Given the description of an element on the screen output the (x, y) to click on. 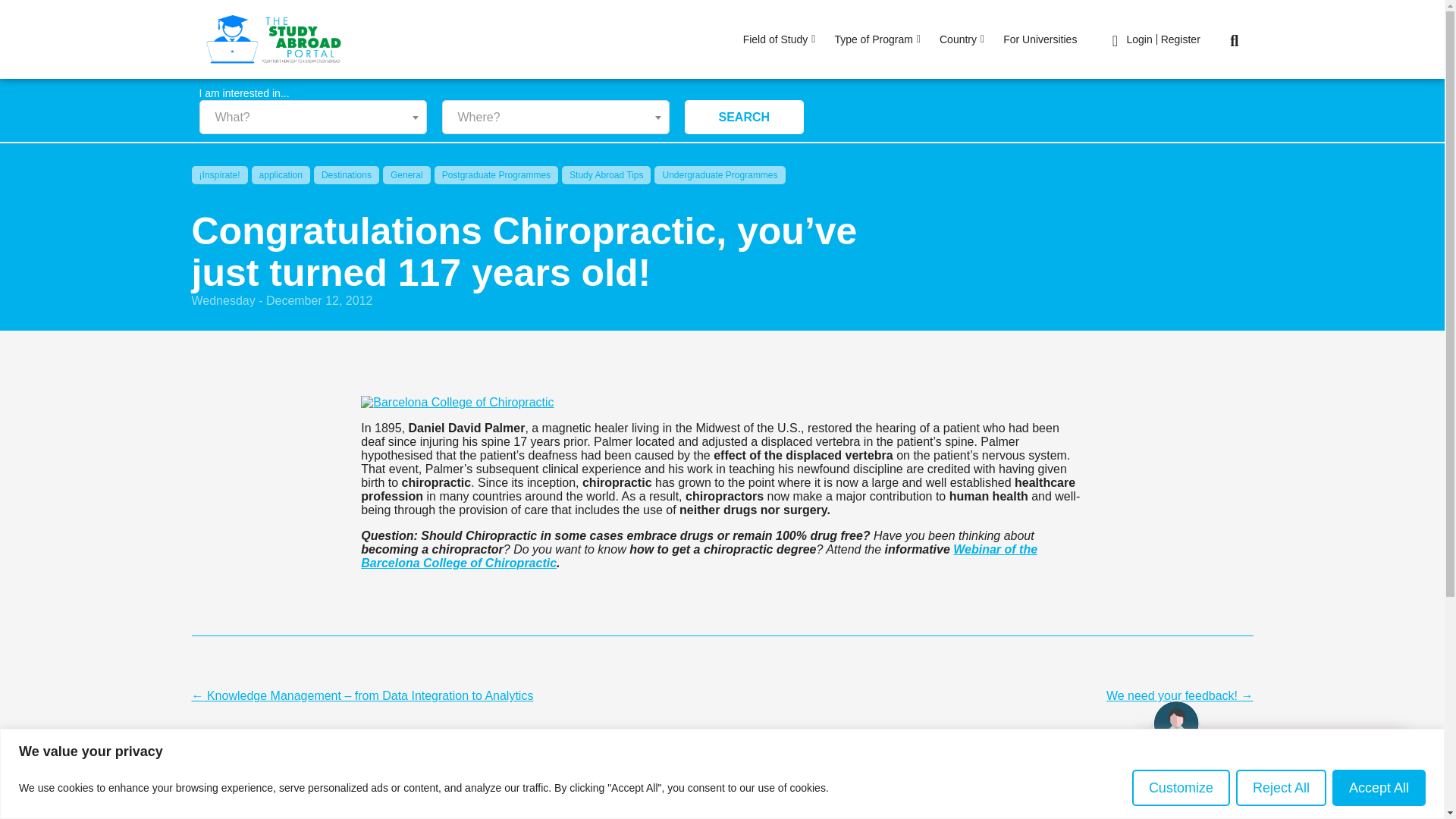
Accept All (1378, 787)
Customize (1181, 787)
Field of Study (781, 39)
Reject All (1281, 787)
Type of Program (879, 39)
